Given the description of an element on the screen output the (x, y) to click on. 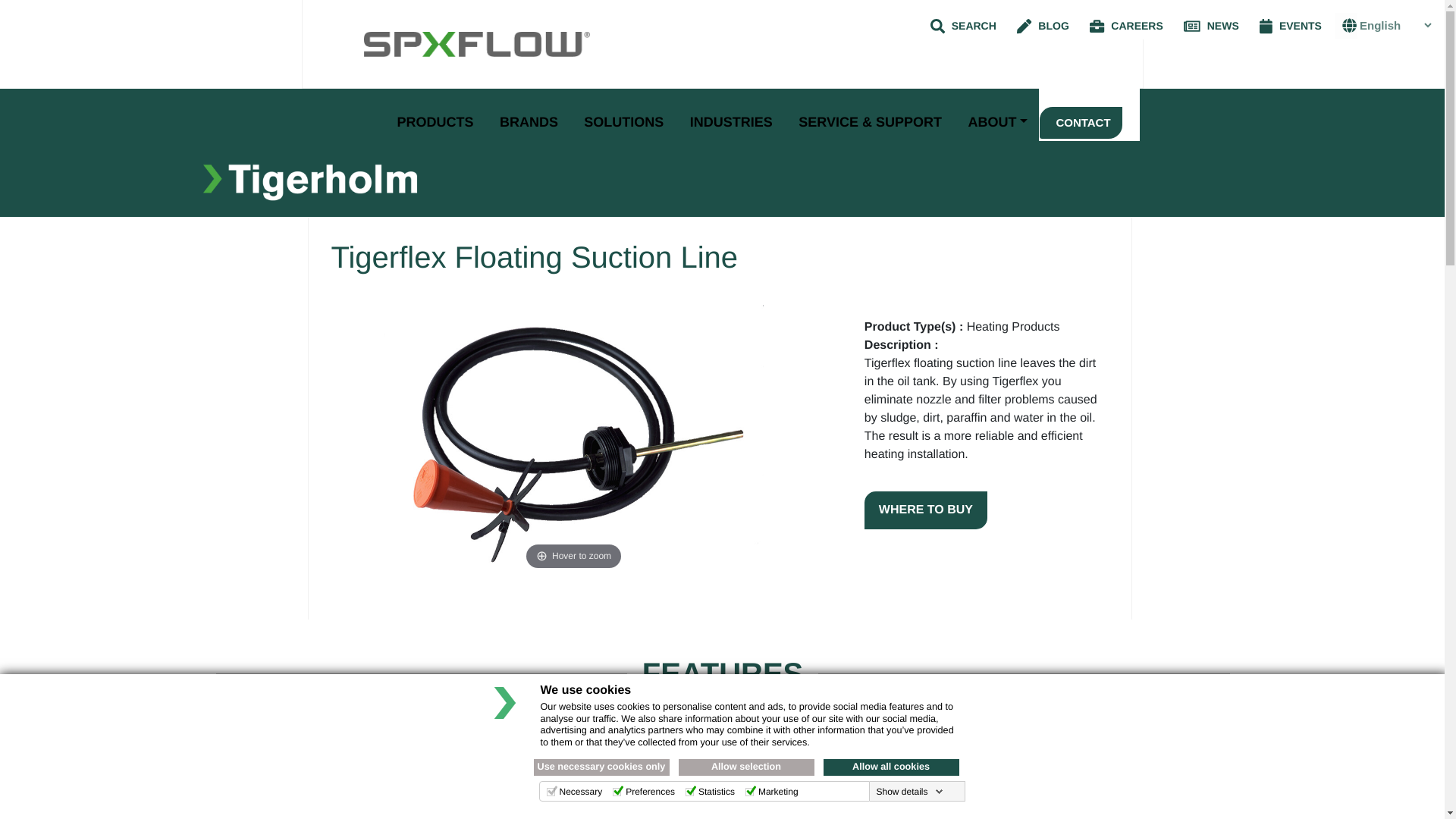
Allow all cookies (891, 767)
Allow selection (745, 767)
Show details (908, 791)
Use necessary cookies only (601, 767)
